Given the description of an element on the screen output the (x, y) to click on. 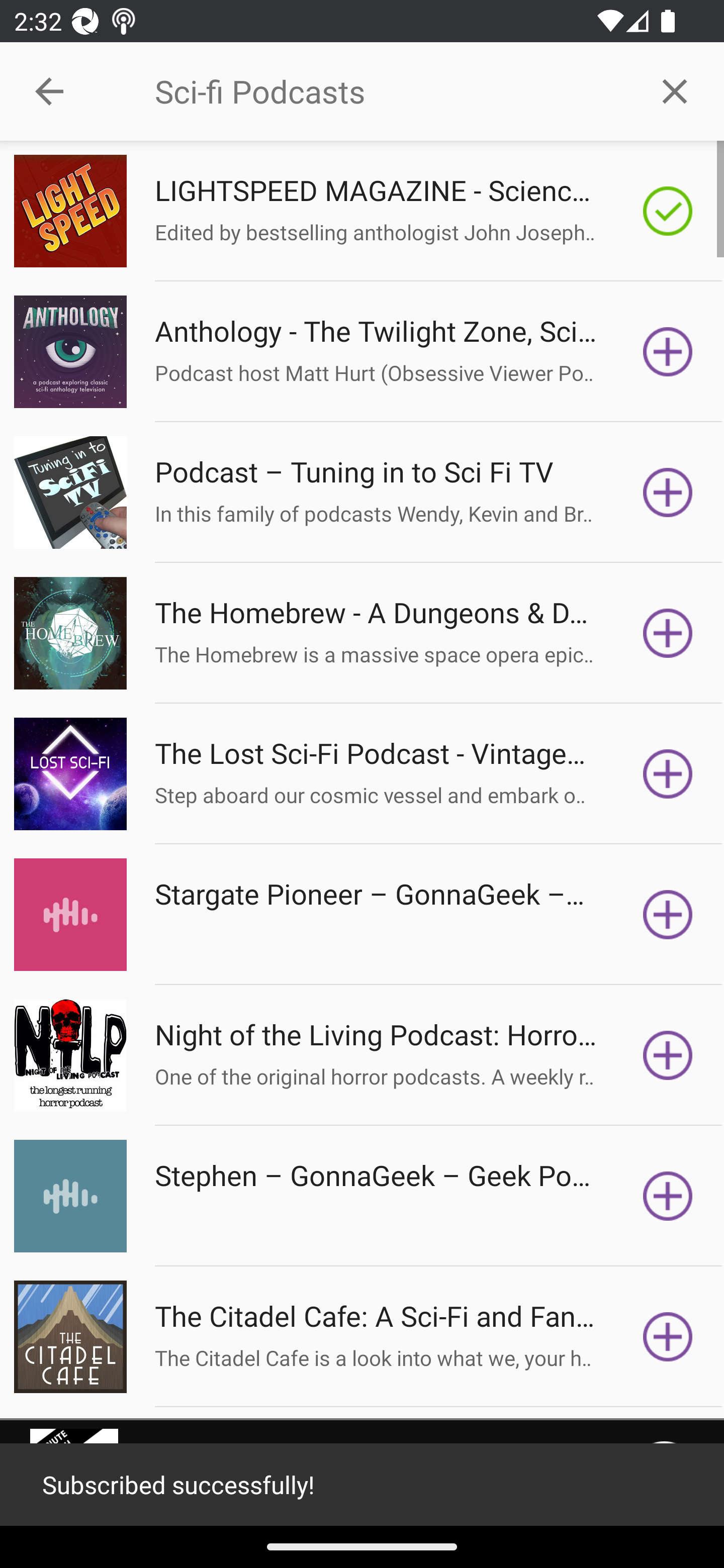
Collapse (49, 91)
Clear query (674, 90)
Sci-fi Podcasts (389, 91)
Subscribed (667, 211)
Subscribe (667, 350)
Subscribe (667, 491)
Subscribe (667, 633)
Subscribe (667, 773)
Subscribe (667, 913)
Subscribe (667, 1054)
Subscribe (667, 1195)
Subscribe (667, 1336)
Subscribed successfully! (362, 1484)
